Given the description of an element on the screen output the (x, y) to click on. 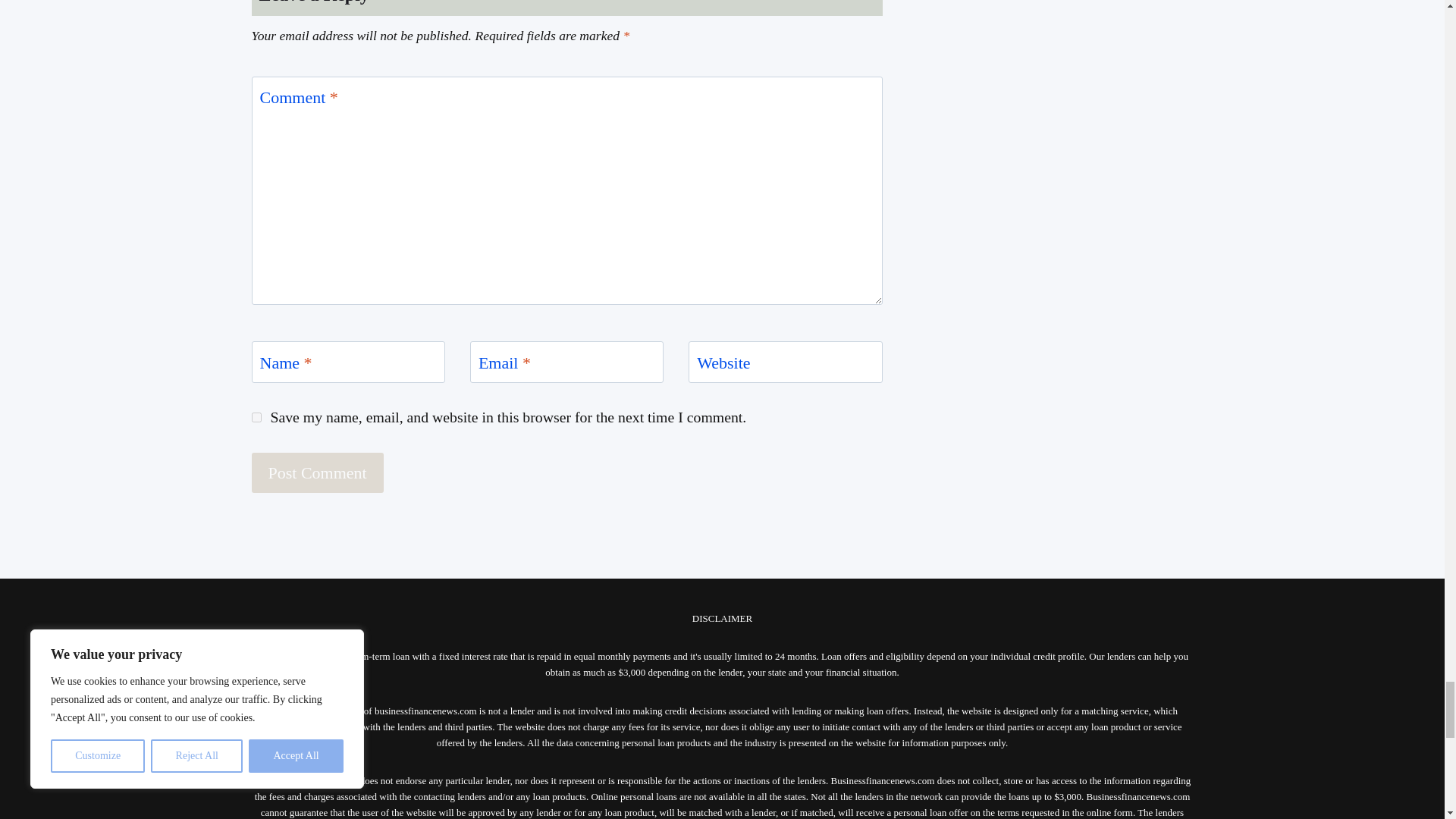
yes (256, 417)
Post Comment (317, 472)
